Given the description of an element on the screen output the (x, y) to click on. 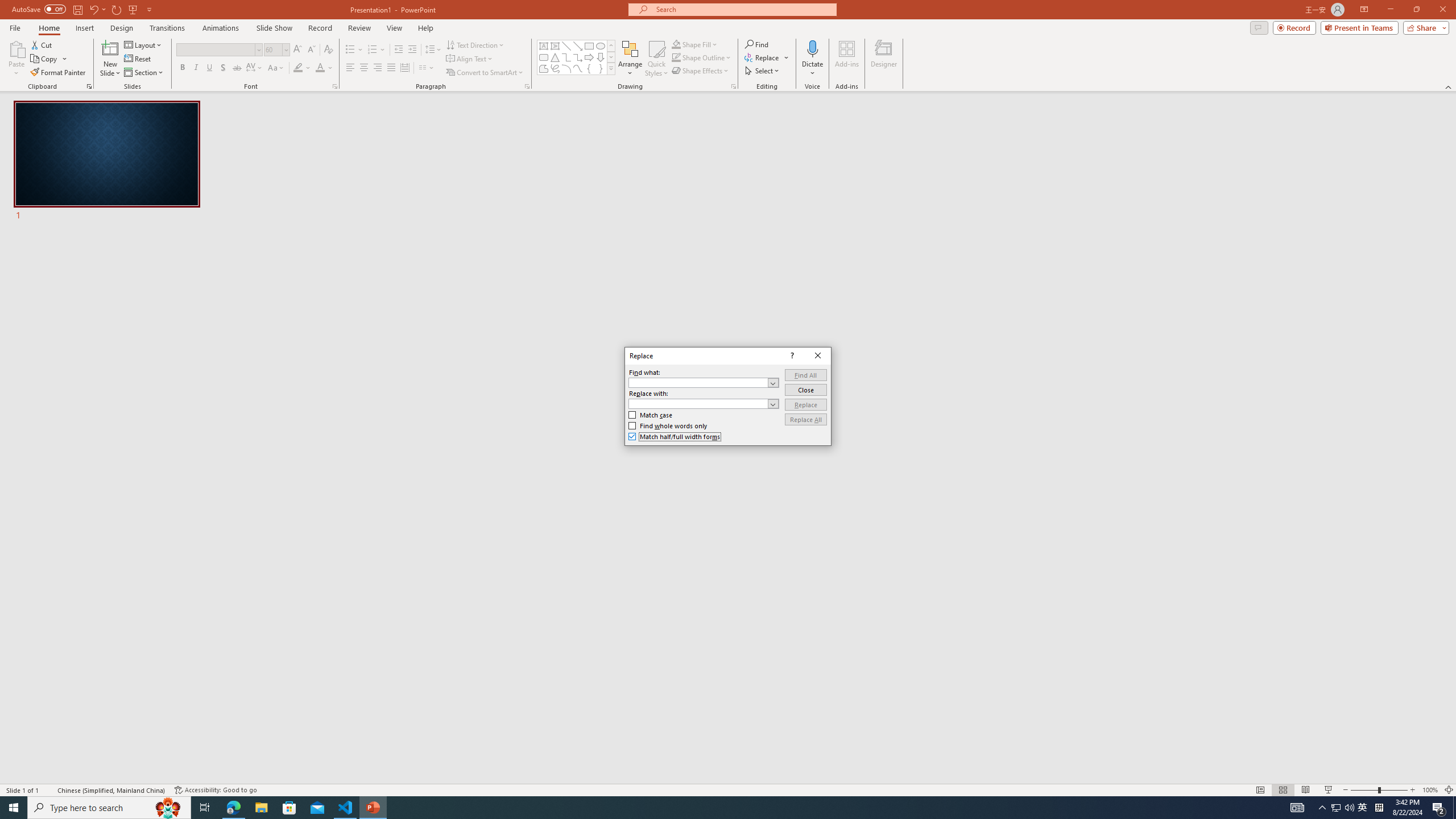
Replace with (703, 403)
Context help (791, 355)
